Given the description of an element on the screen output the (x, y) to click on. 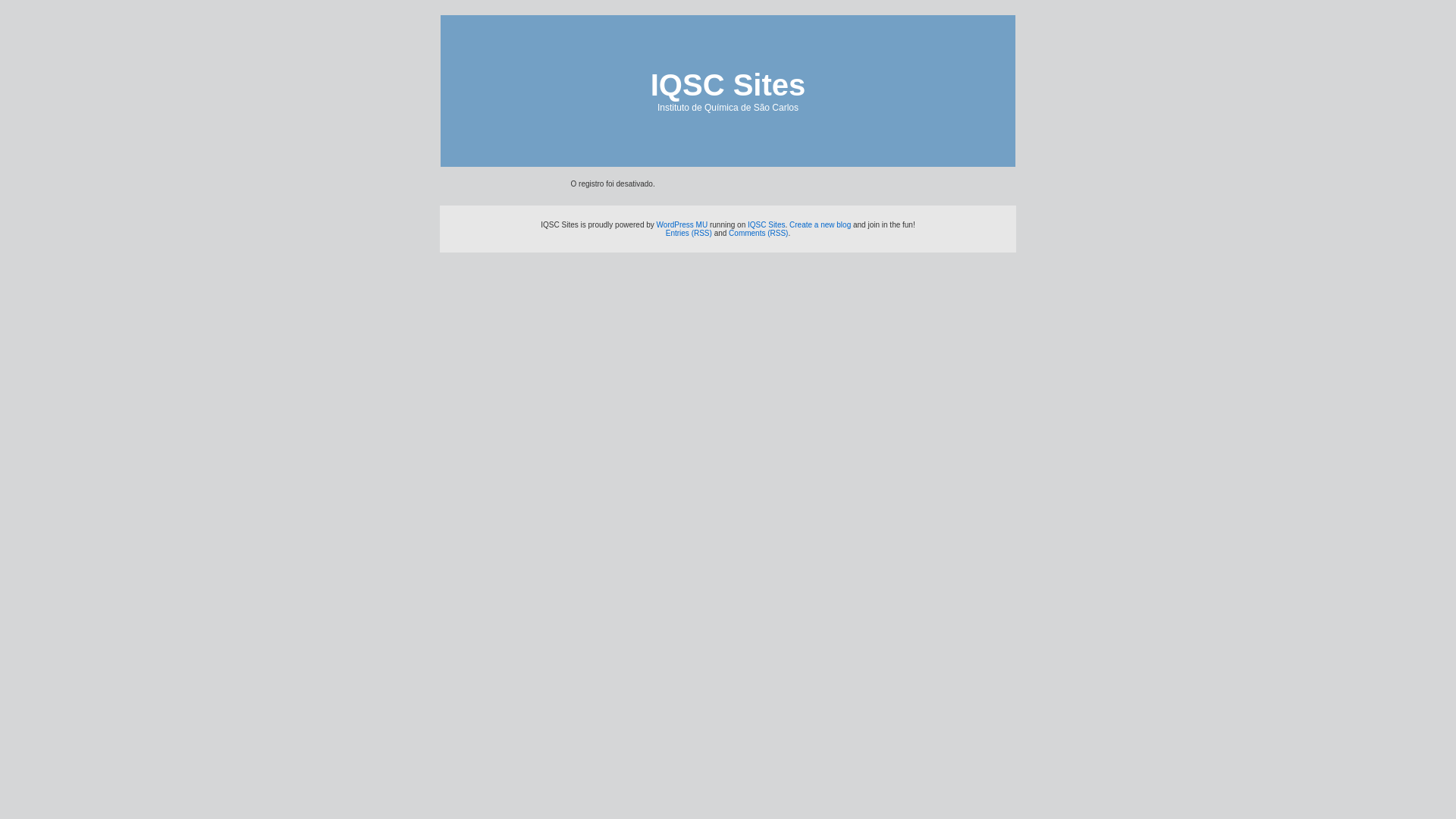
Create a new blog Element type: text (819, 224)
WordPress MU Element type: text (682, 224)
IQSC Sites Element type: text (728, 84)
IQSC Sites Element type: text (765, 224)
Comments (RSS) Element type: text (757, 233)
Entries (RSS) Element type: text (688, 233)
